Given the description of an element on the screen output the (x, y) to click on. 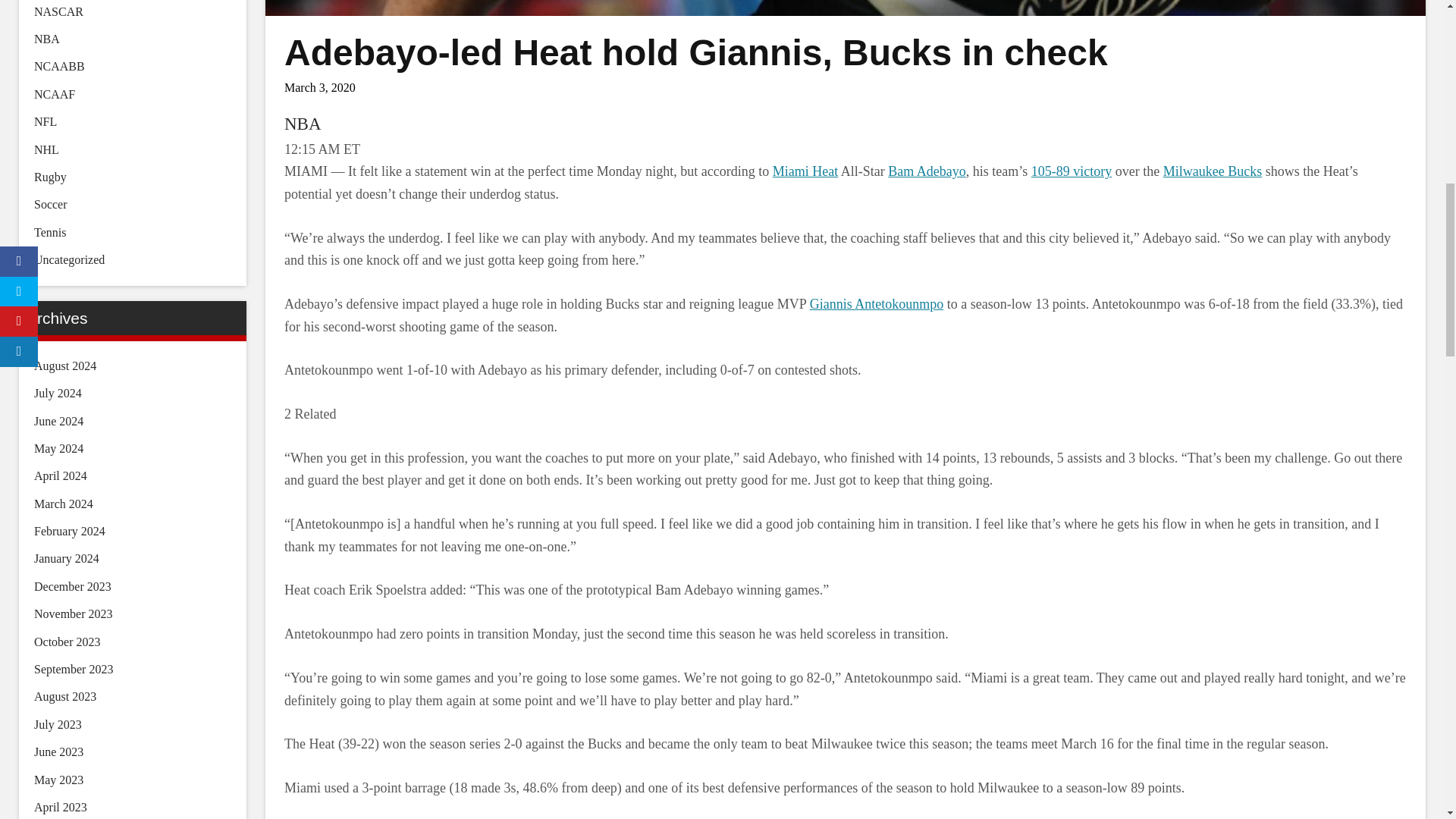
NBA (302, 123)
